Given the description of an element on the screen output the (x, y) to click on. 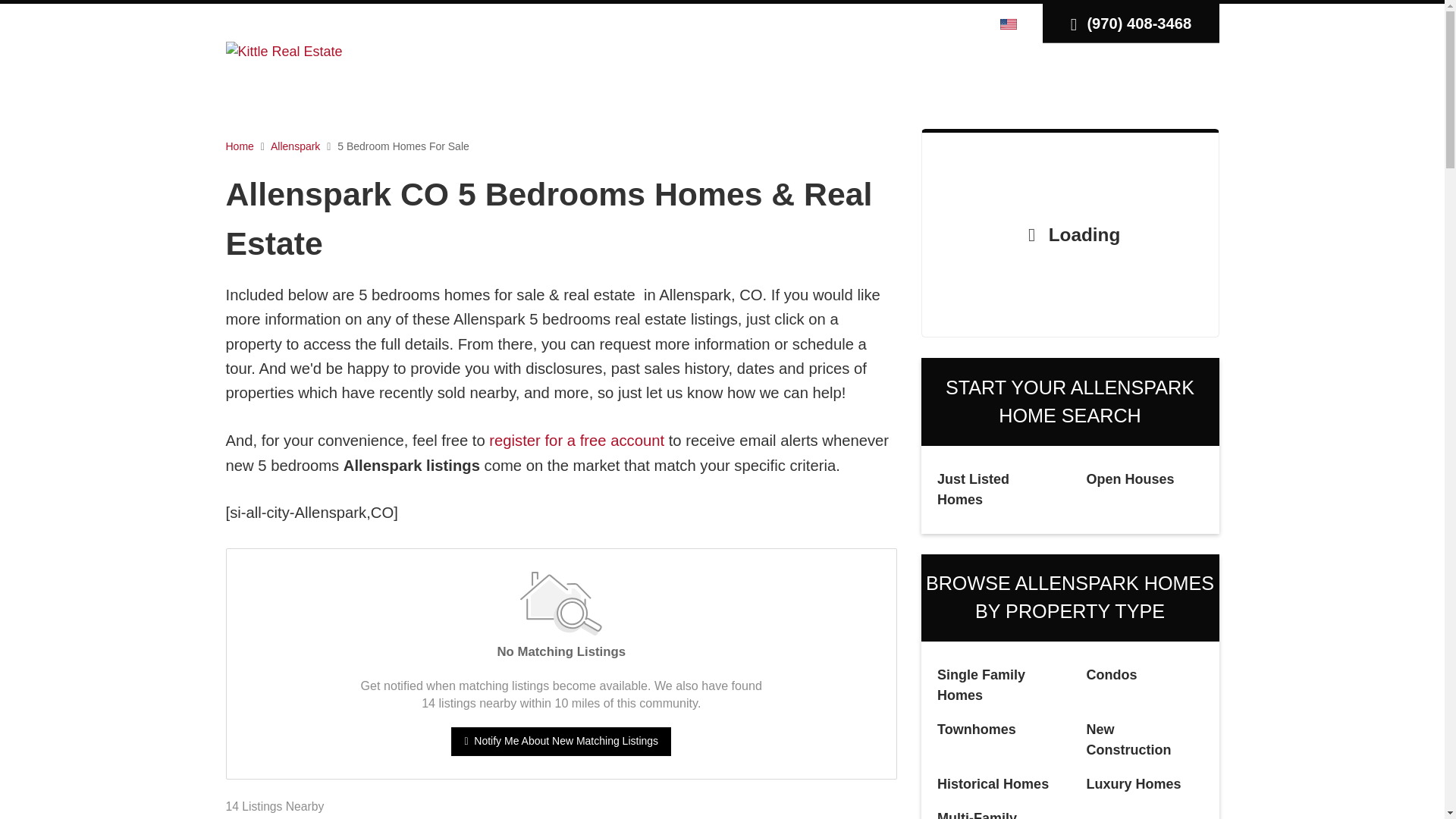
Select Language (1010, 23)
Home Page (283, 50)
Register (925, 23)
Login (876, 23)
Email Listing Alerts (576, 440)
